Given the description of an element on the screen output the (x, y) to click on. 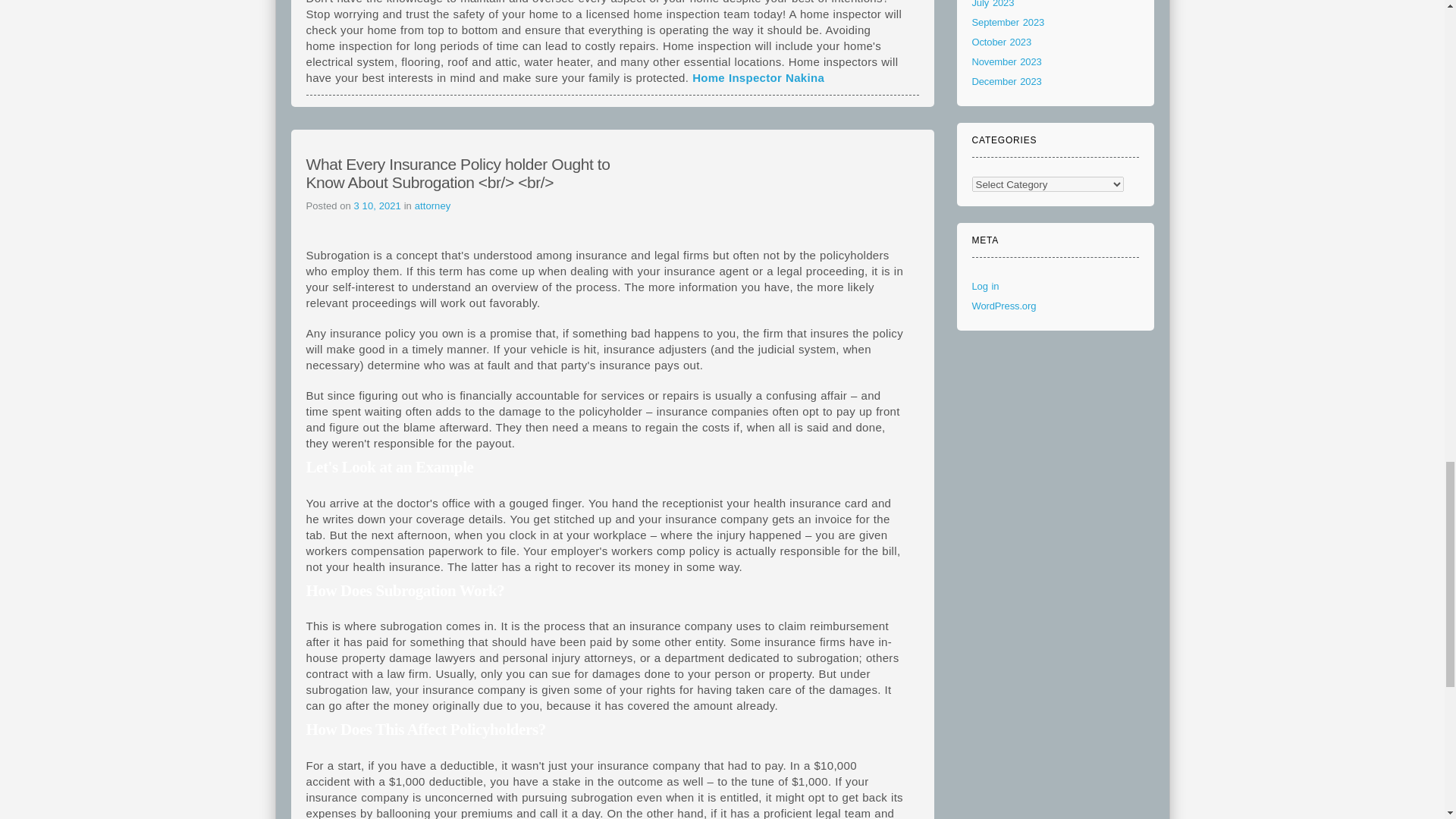
attorney (432, 205)
Home Inspector Nakina (758, 77)
3 10, 2021  (378, 205)
